Given the description of an element on the screen output the (x, y) to click on. 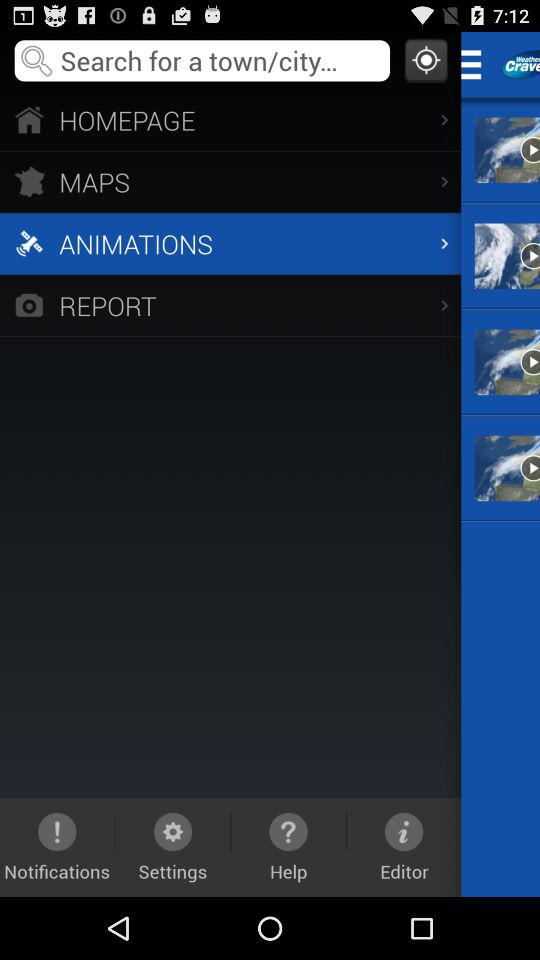
select the animations icon (230, 243)
